Given the description of an element on the screen output the (x, y) to click on. 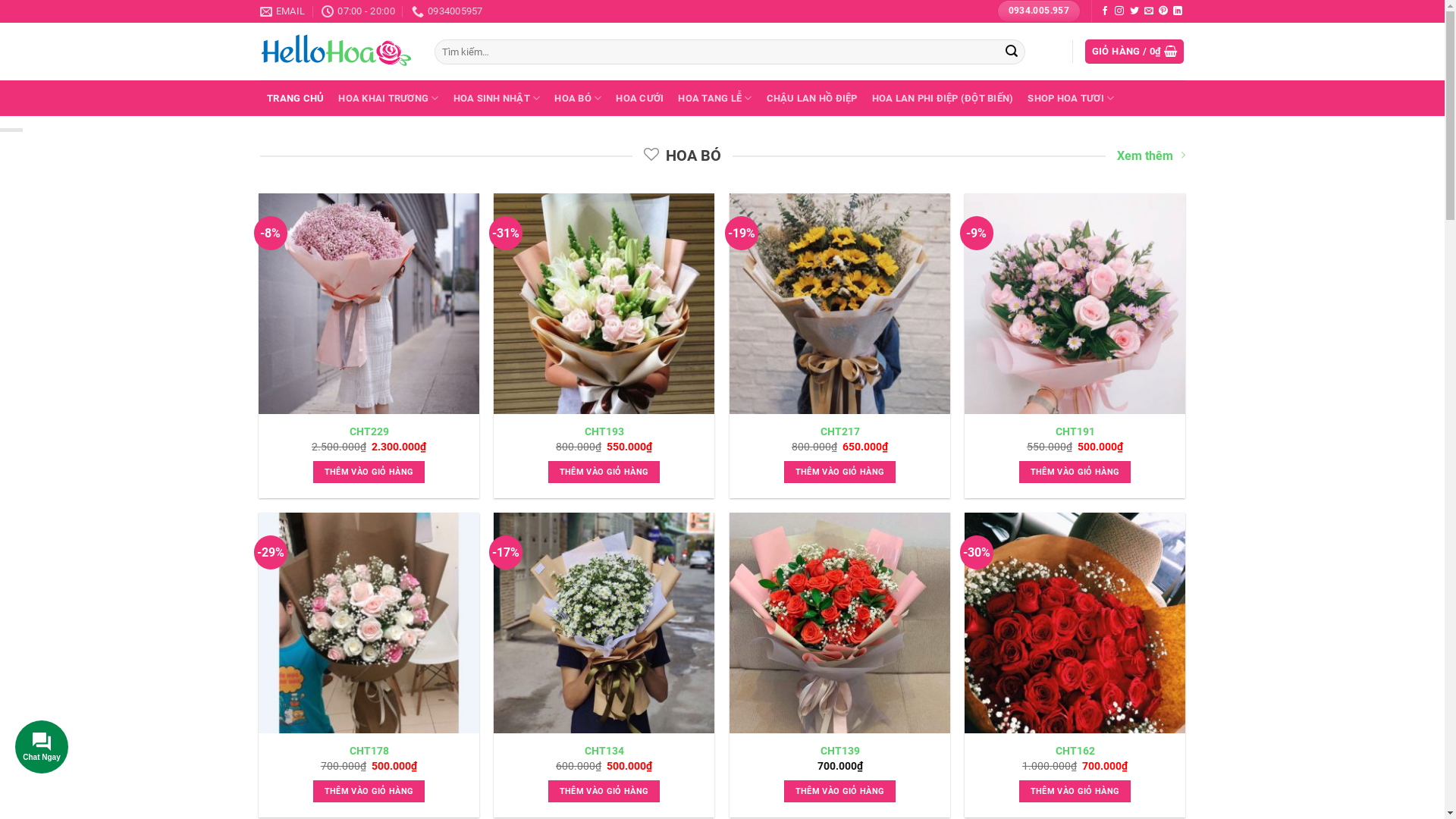
CHT191 Element type: text (1075, 431)
CHT178 Element type: text (369, 750)
0934.005.957 Element type: text (1038, 11)
07:00 - 20:00 Element type: text (358, 11)
CHT139 Element type: text (839, 750)
CHT134 Element type: text (604, 750)
CHT193 Element type: text (604, 431)
CHT217 Element type: text (839, 431)
CHT162 Element type: text (1075, 750)
0934005957 Element type: text (447, 11)
CHT229 Element type: text (369, 431)
EMAIL Element type: text (281, 11)
